Given the description of an element on the screen output the (x, y) to click on. 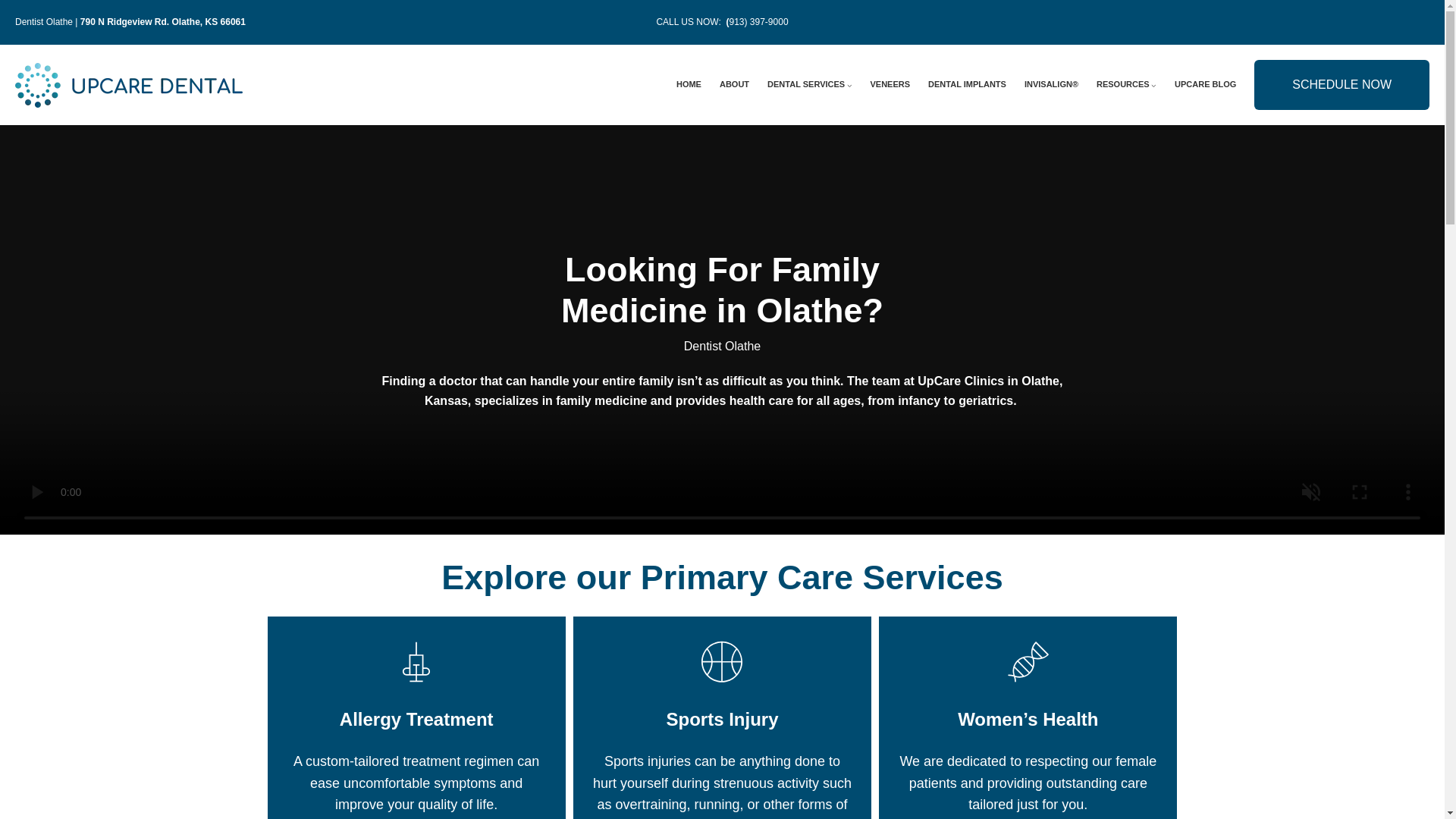
SCHEDULE NOW (1341, 84)
DENTAL SERVICES (805, 84)
790 N Ridgeview Rd. Olathe, KS 66061 (163, 21)
ABOUT (734, 84)
UPCARE BLOG (1205, 84)
DENTAL IMPLANTS (967, 84)
RESOURCES (1123, 84)
VENEERS (889, 84)
HOME (689, 84)
